Given the description of an element on the screen output the (x, y) to click on. 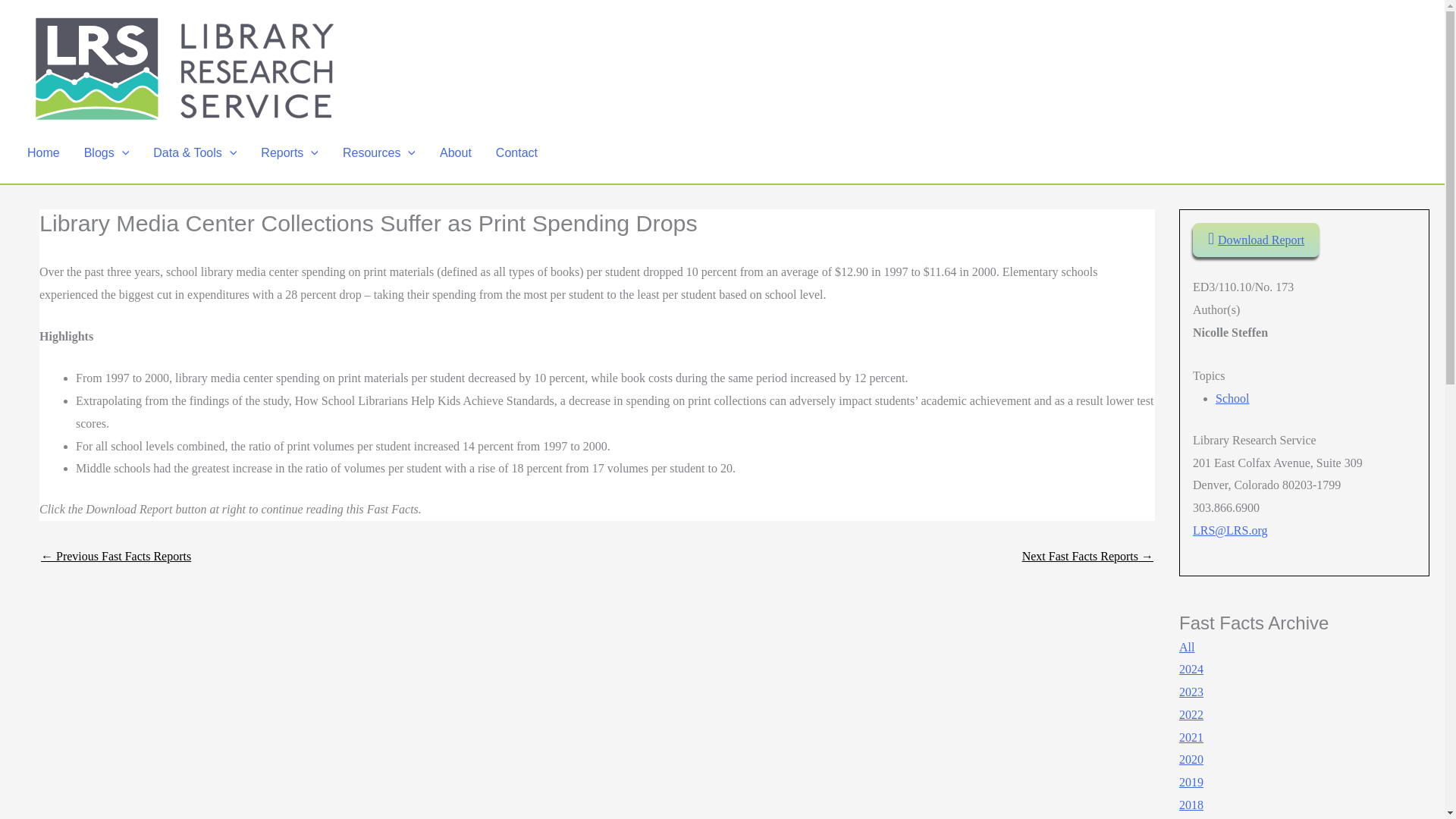
Future Trends in Pricing for Library Materials (115, 556)
Reports (289, 152)
Home (42, 152)
Download PDF (1255, 239)
Blogs (106, 152)
